Given the description of an element on the screen output the (x, y) to click on. 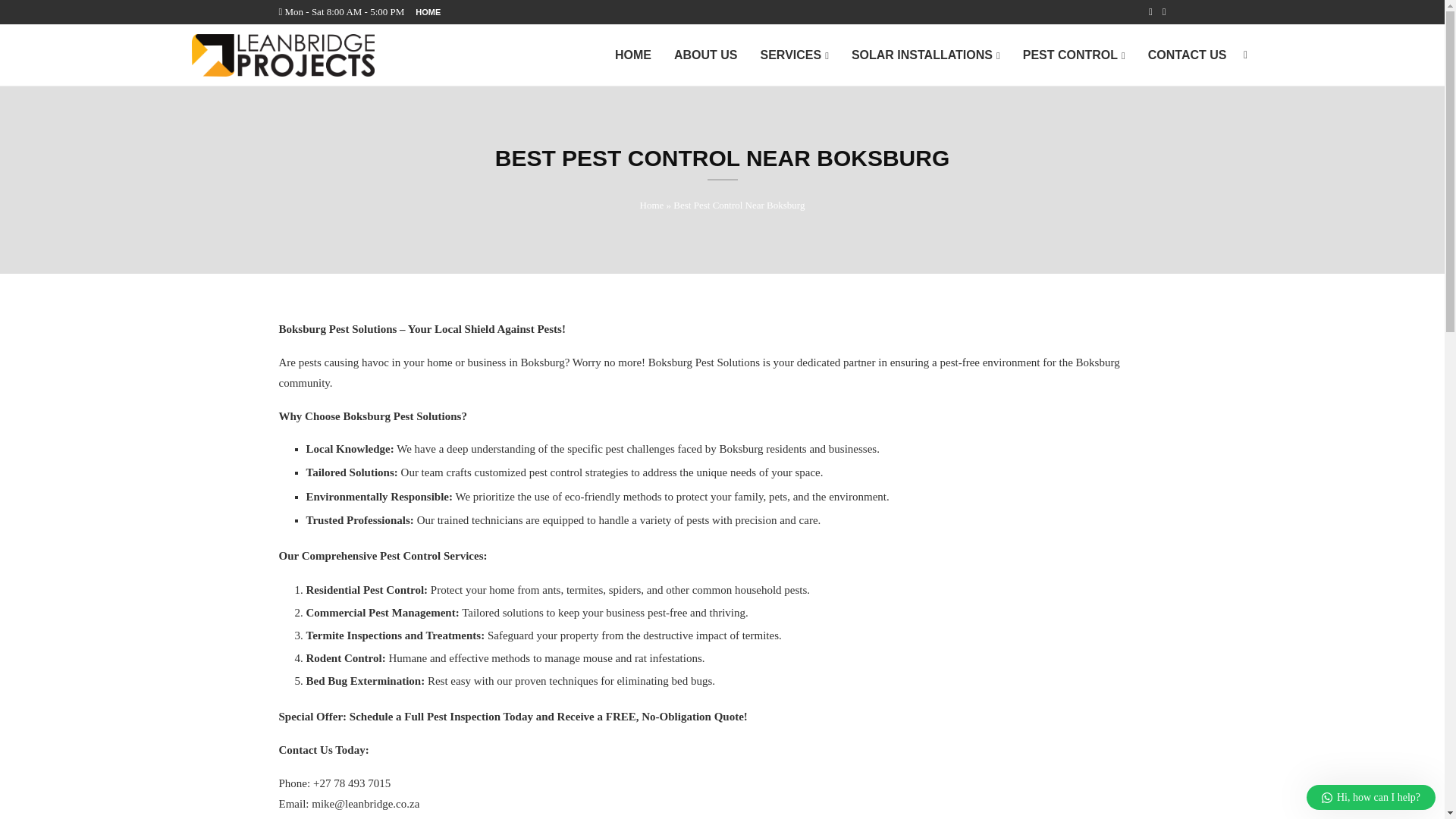
HOME (427, 12)
SOLAR INSTALLATIONS (925, 55)
ABOUT US (706, 55)
CONTACT US (1187, 55)
PEST CONTROL (1074, 55)
Home (651, 204)
SERVICES (794, 55)
